Given the description of an element on the screen output the (x, y) to click on. 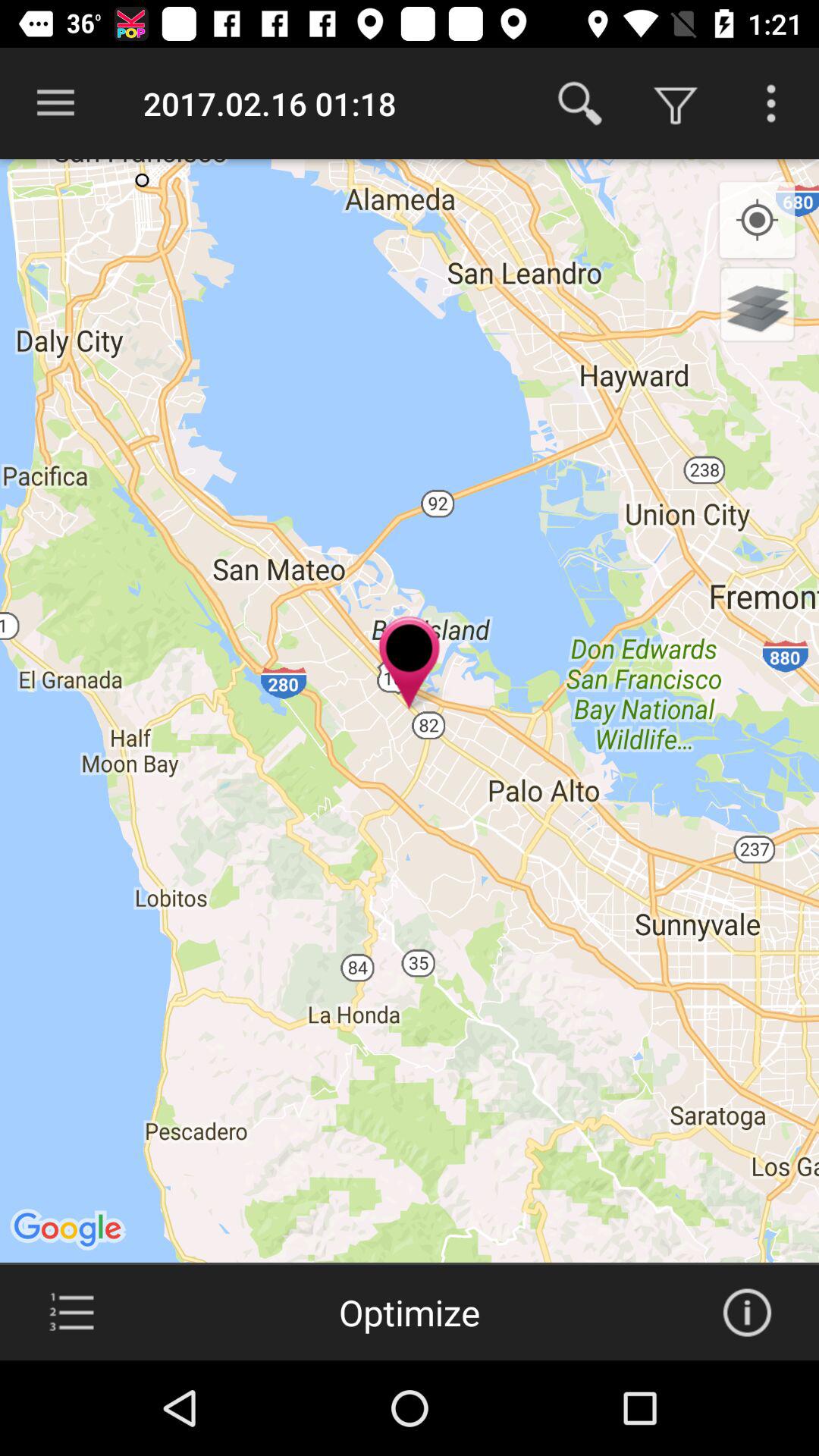
more options (771, 103)
